Given the description of an element on the screen output the (x, y) to click on. 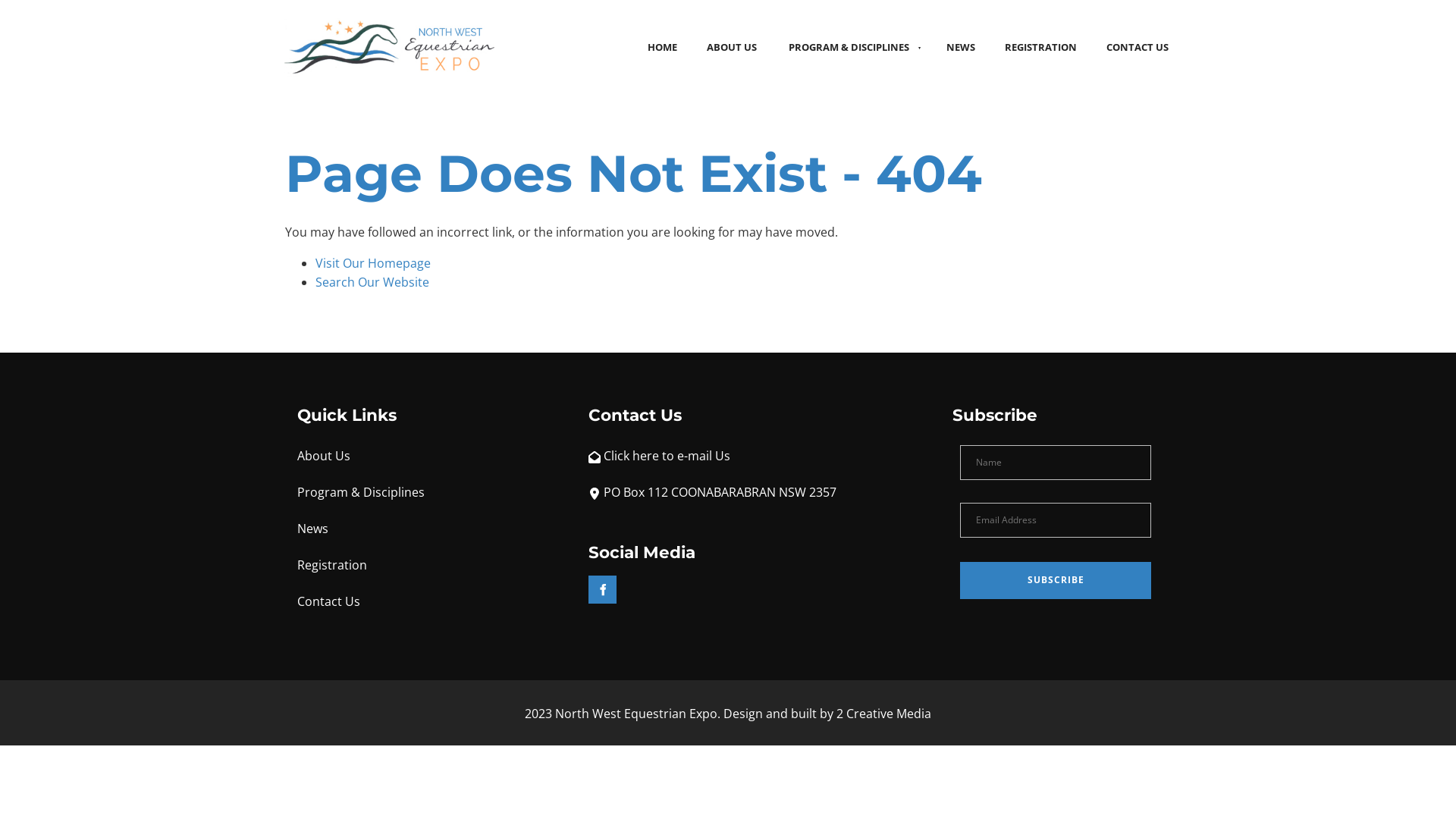
HOME Element type: text (661, 47)
CONTACT US Element type: text (1137, 47)
SUBSCRIBE Element type: text (1055, 580)
Facebook Element type: hover (602, 589)
Visit Our Homepage Element type: text (372, 262)
NEWS Element type: text (960, 47)
ABOUT US Element type: text (731, 47)
Program & Disciplines Element type: text (360, 491)
About Us Element type: text (323, 455)
2 Creative Media Element type: text (883, 713)
Contact Us Element type: text (328, 601)
News Element type: text (312, 528)
Click here to e-mail Us Element type: text (666, 455)
Registration Element type: text (332, 564)
Search Our Website Element type: text (372, 281)
PROGRAM & DISCIPLINES Element type: text (851, 47)
REGISTRATION Element type: text (1040, 47)
